Given the description of an element on the screen output the (x, y) to click on. 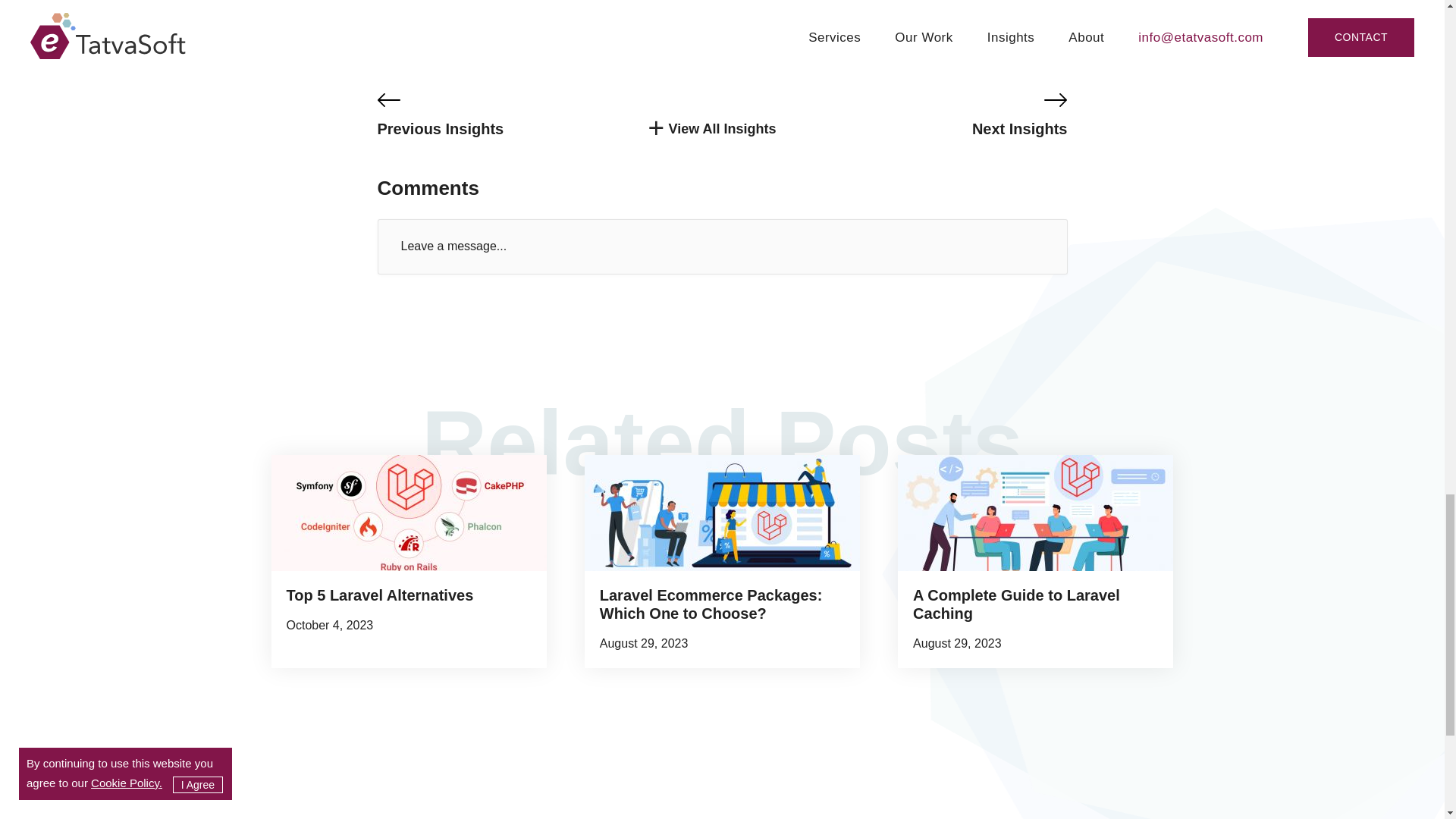
Previous Insights (492, 115)
View All Insights (722, 128)
